Given the description of an element on the screen output the (x, y) to click on. 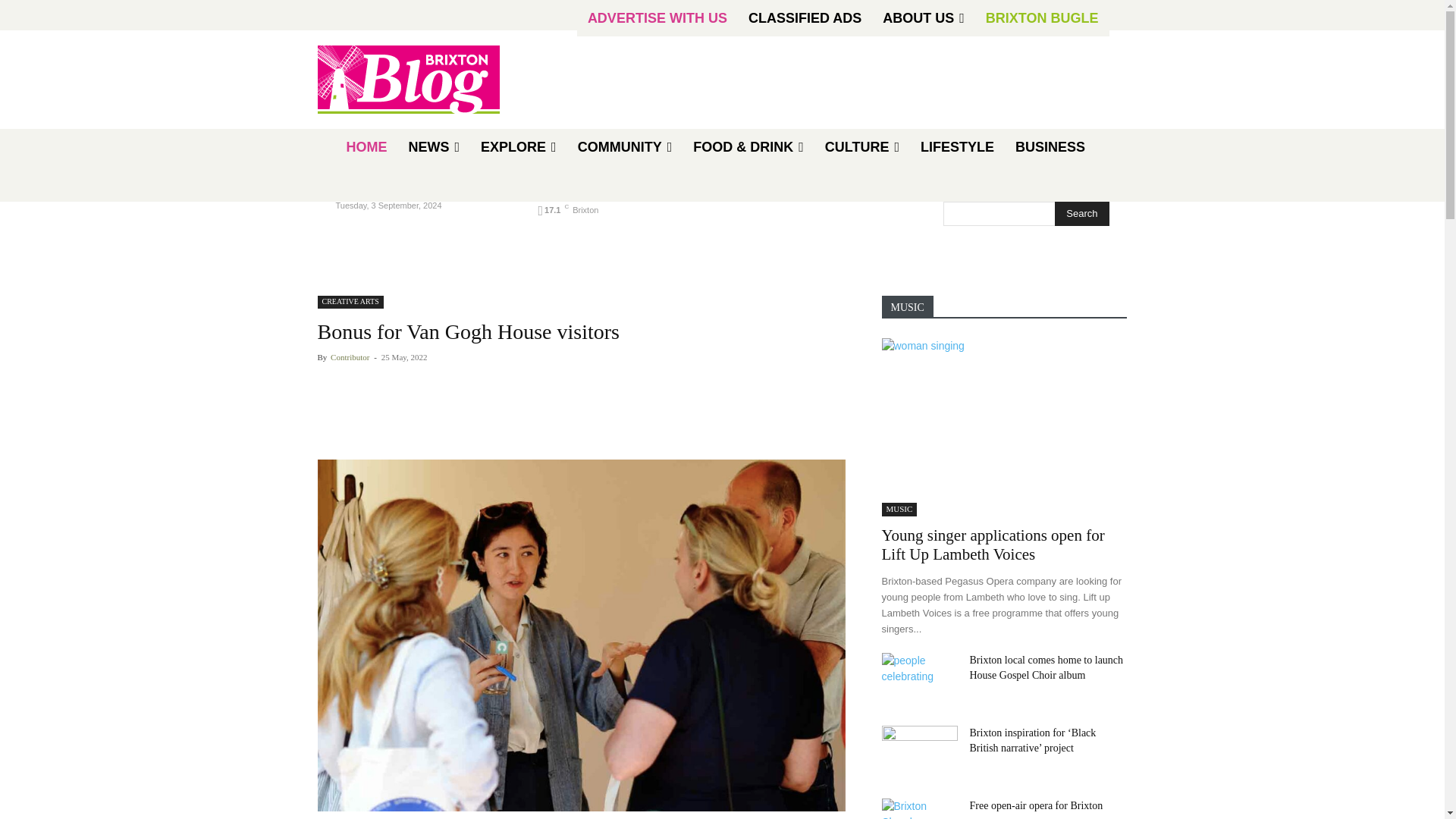
BRIXTON BUGLE (1042, 18)
CLASSIFIED ADS (805, 18)
topFacebookLike (430, 382)
ABOUT US (923, 18)
Brixton Blog (425, 79)
ADVERTISE WITH US (657, 18)
Brixton Blog (408, 79)
